Given the description of an element on the screen output the (x, y) to click on. 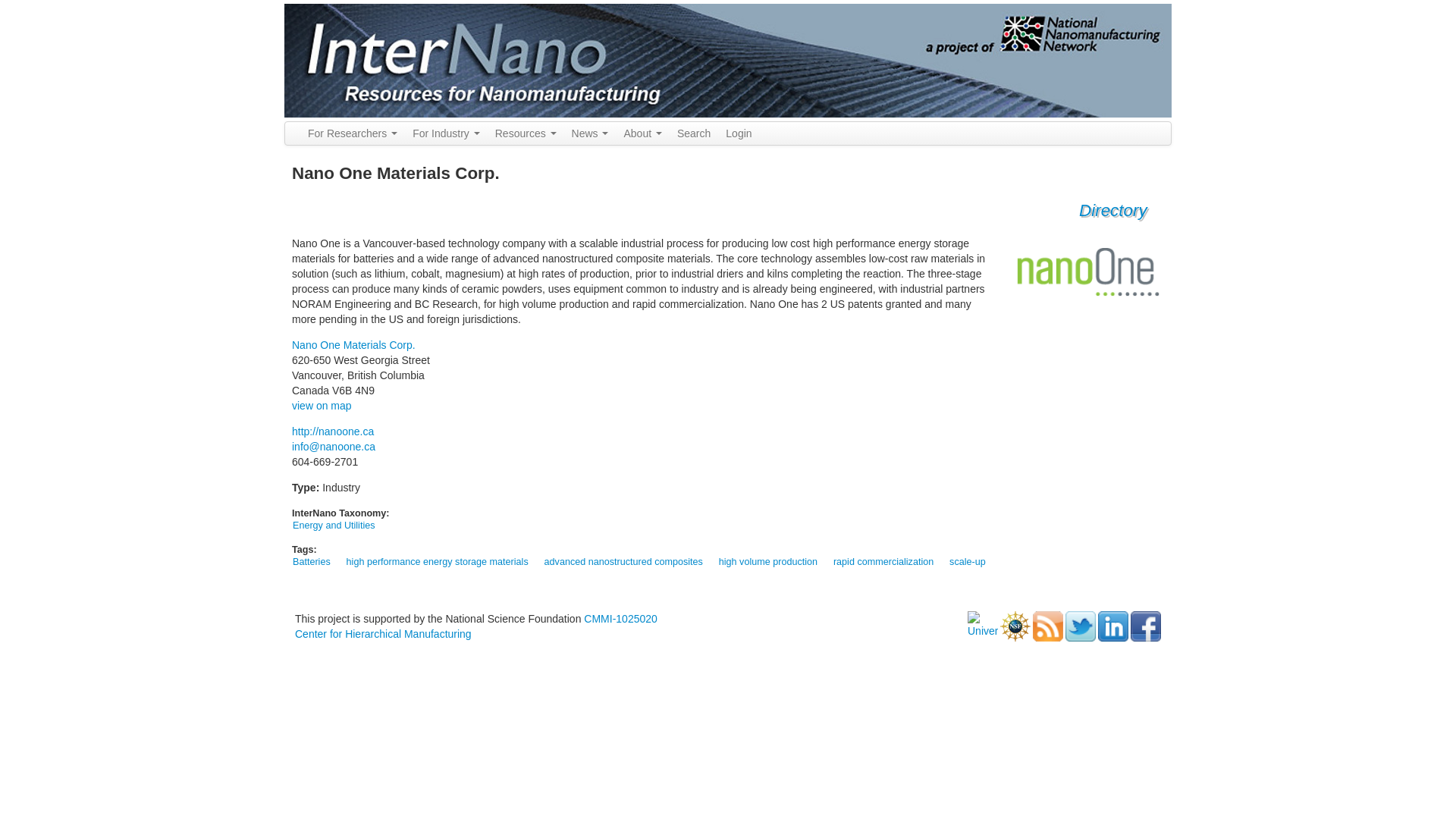
Home (727, 60)
Skip to content (34, 4)
News (589, 133)
Resources (525, 133)
For Industry (445, 133)
For Researchers (351, 133)
